Given the description of an element on the screen output the (x, y) to click on. 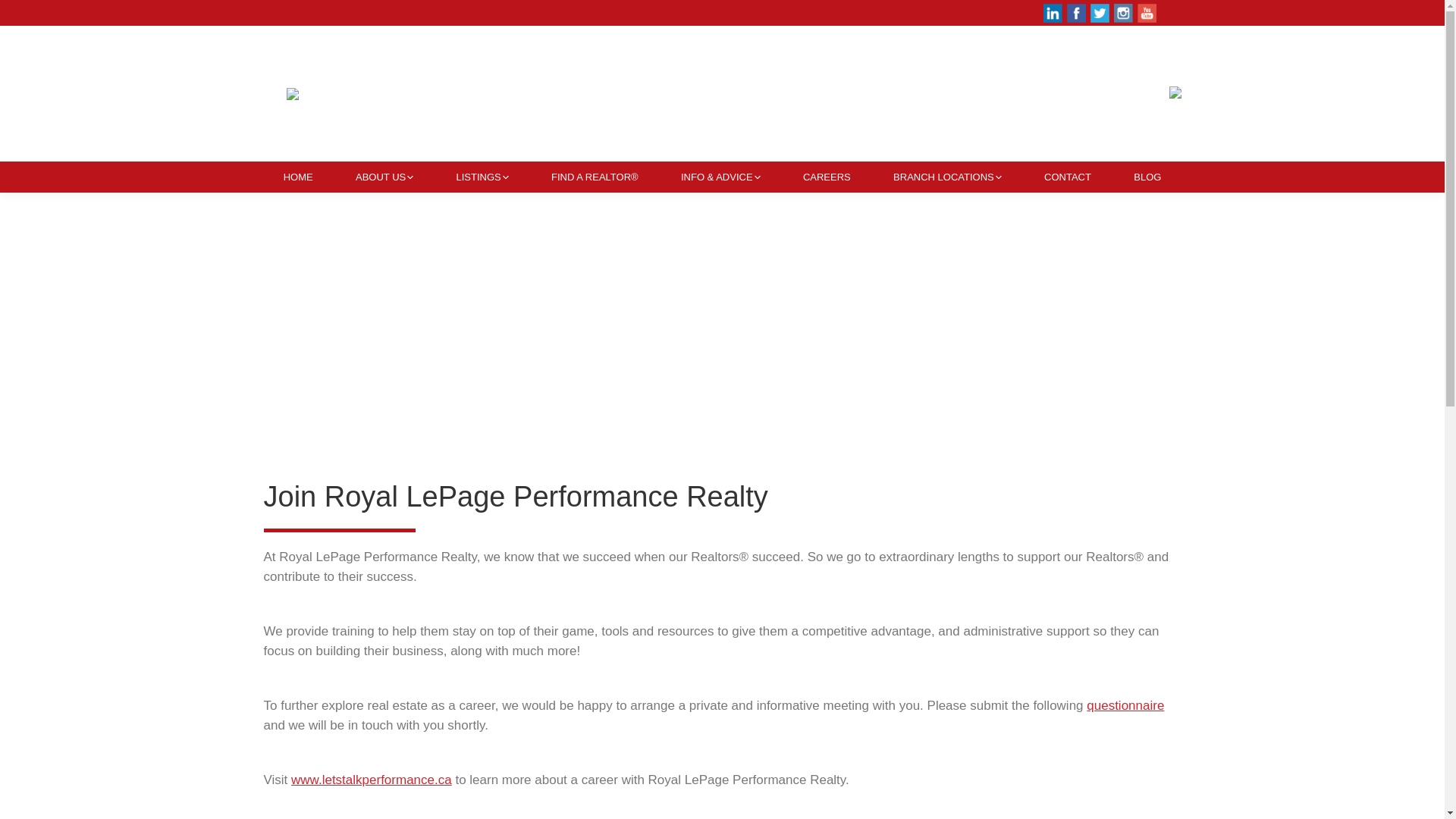
CONTACT (1067, 176)
HOME (298, 176)
LISTINGS (481, 176)
ABOUT US (384, 176)
CAREERS (826, 176)
BLOG (1146, 176)
BRANCH LOCATIONS (947, 176)
